Given the description of an element on the screen output the (x, y) to click on. 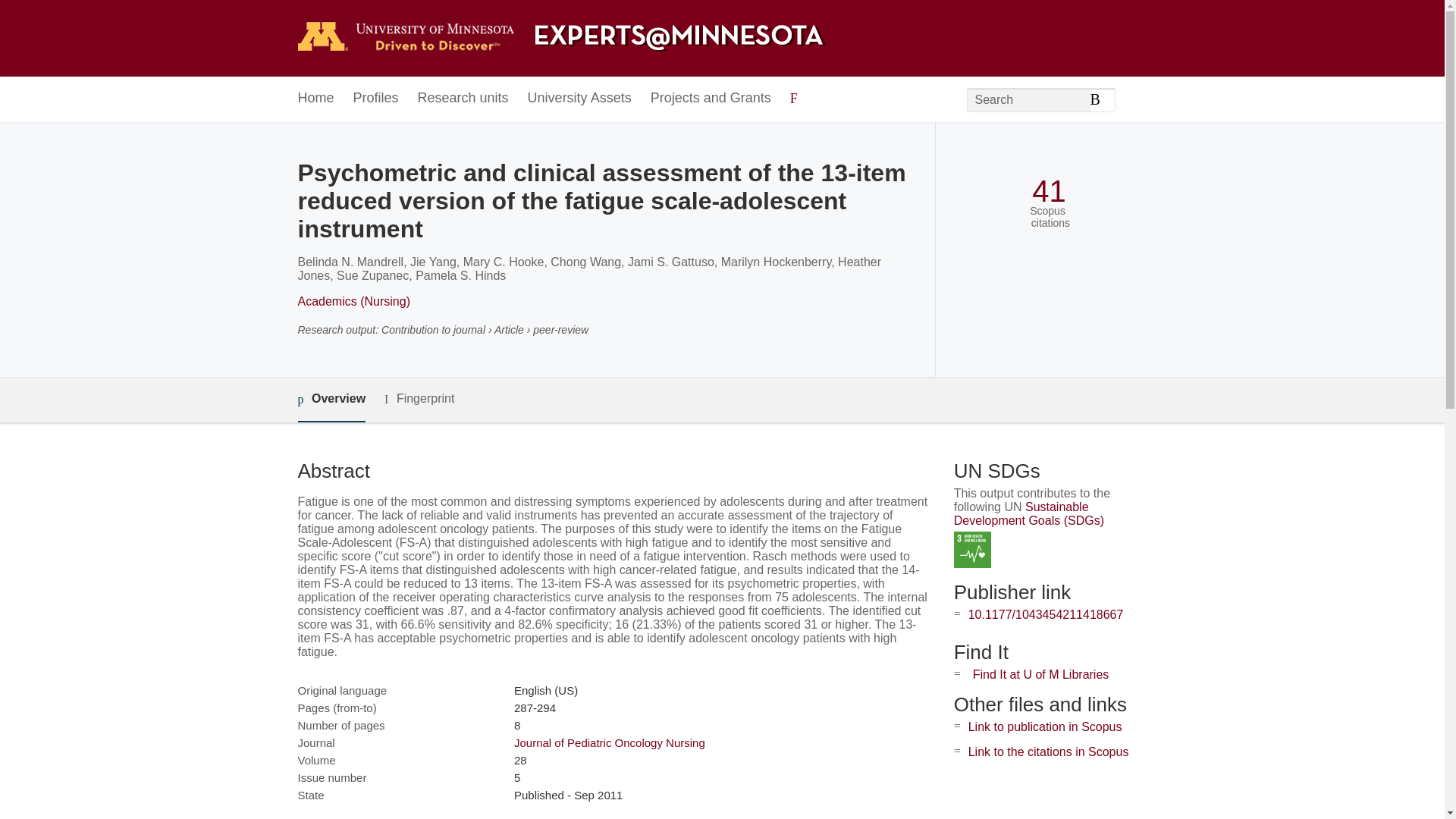
41 (1048, 191)
Link to publication in Scopus (1045, 726)
Overview (331, 399)
Research units (462, 98)
Link to the citations in Scopus (1048, 751)
Journal of Pediatric Oncology Nursing (608, 742)
Fingerprint (419, 398)
SDG 3 - Good Health and Well-being (972, 549)
Projects and Grants (710, 98)
